Given the description of an element on the screen output the (x, y) to click on. 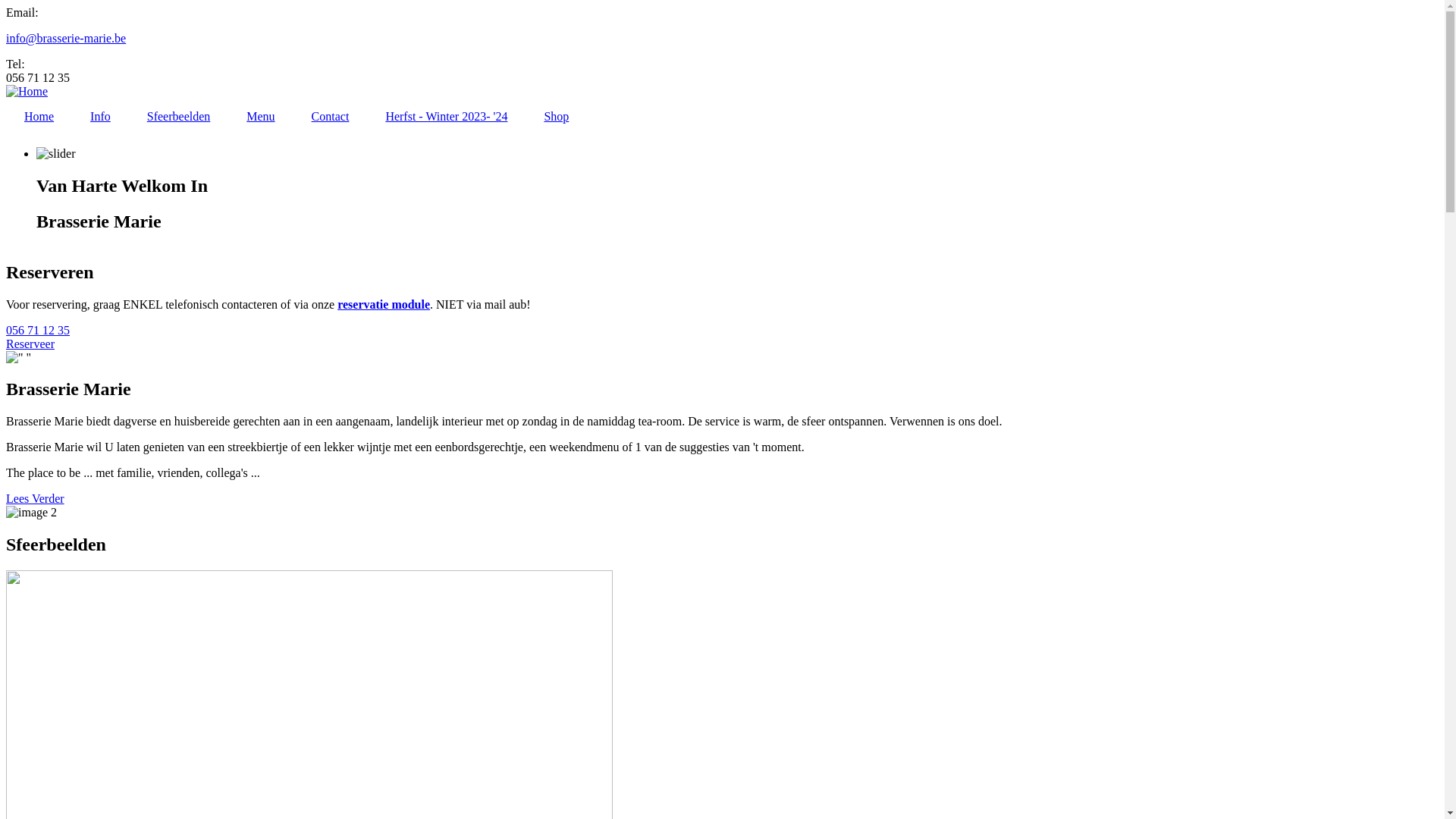
056 71 12 35 Element type: text (37, 329)
Reserveer Element type: text (30, 343)
Home Element type: hover (26, 90)
Overslaan en naar de inhoud gaan Element type: text (6, 6)
Contact Element type: text (330, 116)
Sfeerbeelden Element type: text (178, 116)
Menu Element type: text (260, 116)
info@brasserie-marie.be Element type: text (65, 37)
reservatie module Element type: text (383, 304)
Shop Element type: text (555, 116)
Info Element type: text (100, 116)
Home Element type: text (39, 116)
Lees Verder Element type: text (35, 498)
Herfst - Winter 2023- '24 Element type: text (446, 116)
